Given the description of an element on the screen output the (x, y) to click on. 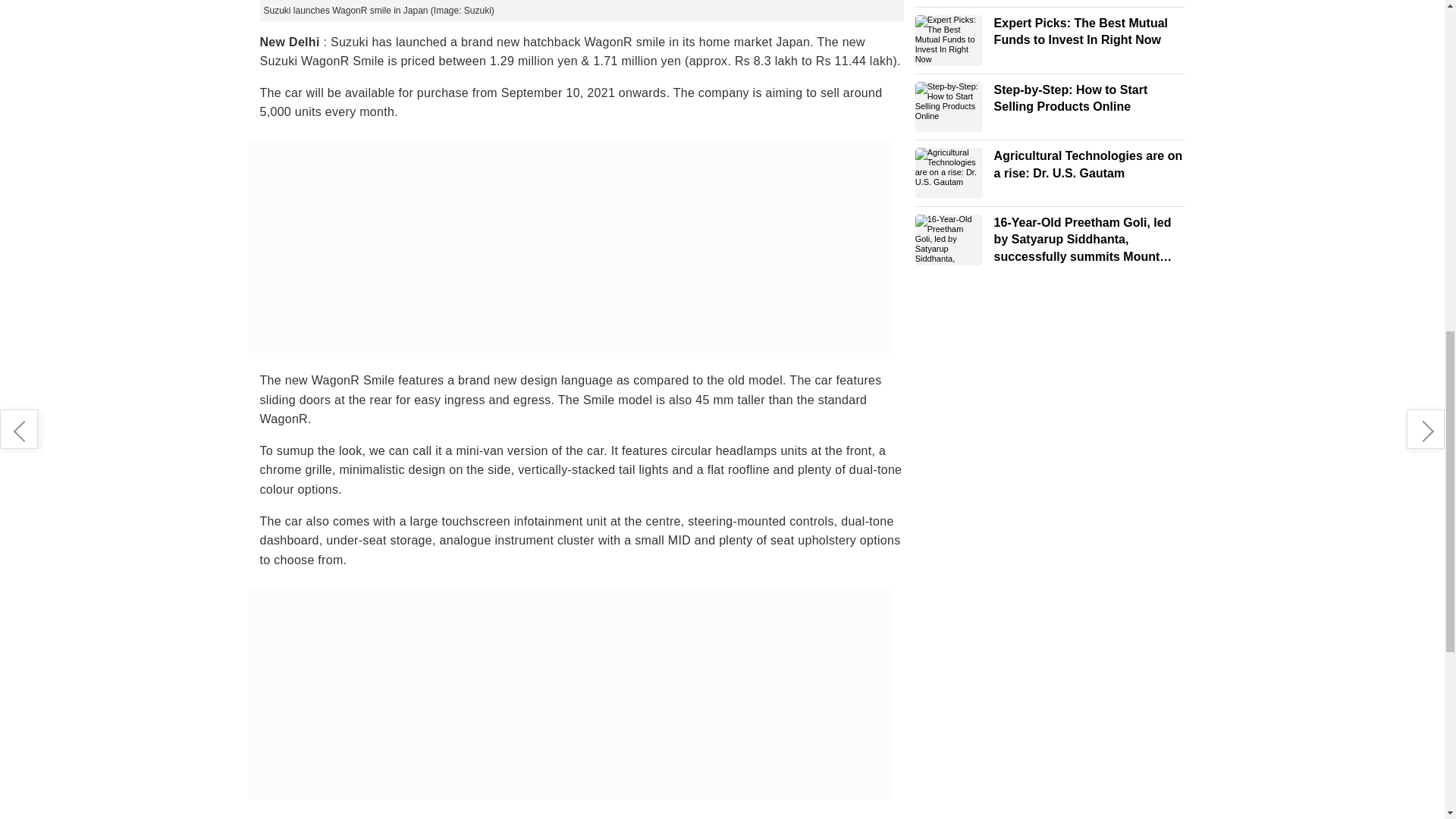
Step-by-Step: How to Start Selling Products Online (948, 106)
Expert Picks: The Best Mutual Funds to Invest In Right Now (948, 40)
Agricultural Technologies are on a rise:  Dr. U.S. Gautam (948, 173)
